Given the description of an element on the screen output the (x, y) to click on. 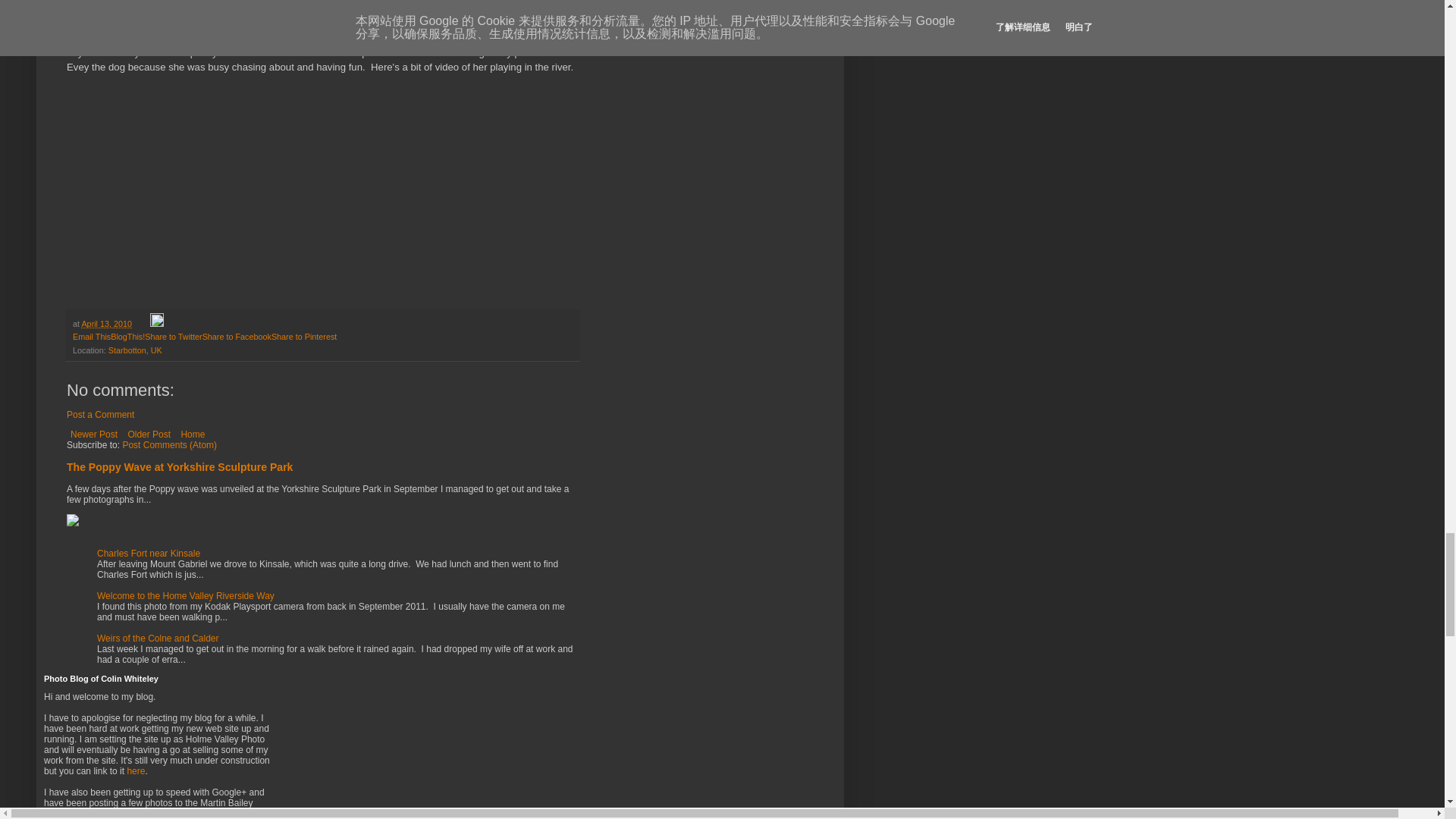
The Poppy Wave at Yorkshire Sculpture Park (179, 467)
Newer Post (93, 434)
Share to Pinterest (303, 336)
Share to Facebook (236, 336)
permanent link (106, 323)
here (135, 770)
Email This (91, 336)
Email This (91, 336)
Older Post (148, 434)
Older Post (148, 434)
Weirs of the Colne and Calder (158, 638)
Newer Post (93, 434)
BlogThis! (127, 336)
Welcome to the Home Valley Riverside Way (186, 595)
Starbotton, UK (134, 349)
